Given the description of an element on the screen output the (x, y) to click on. 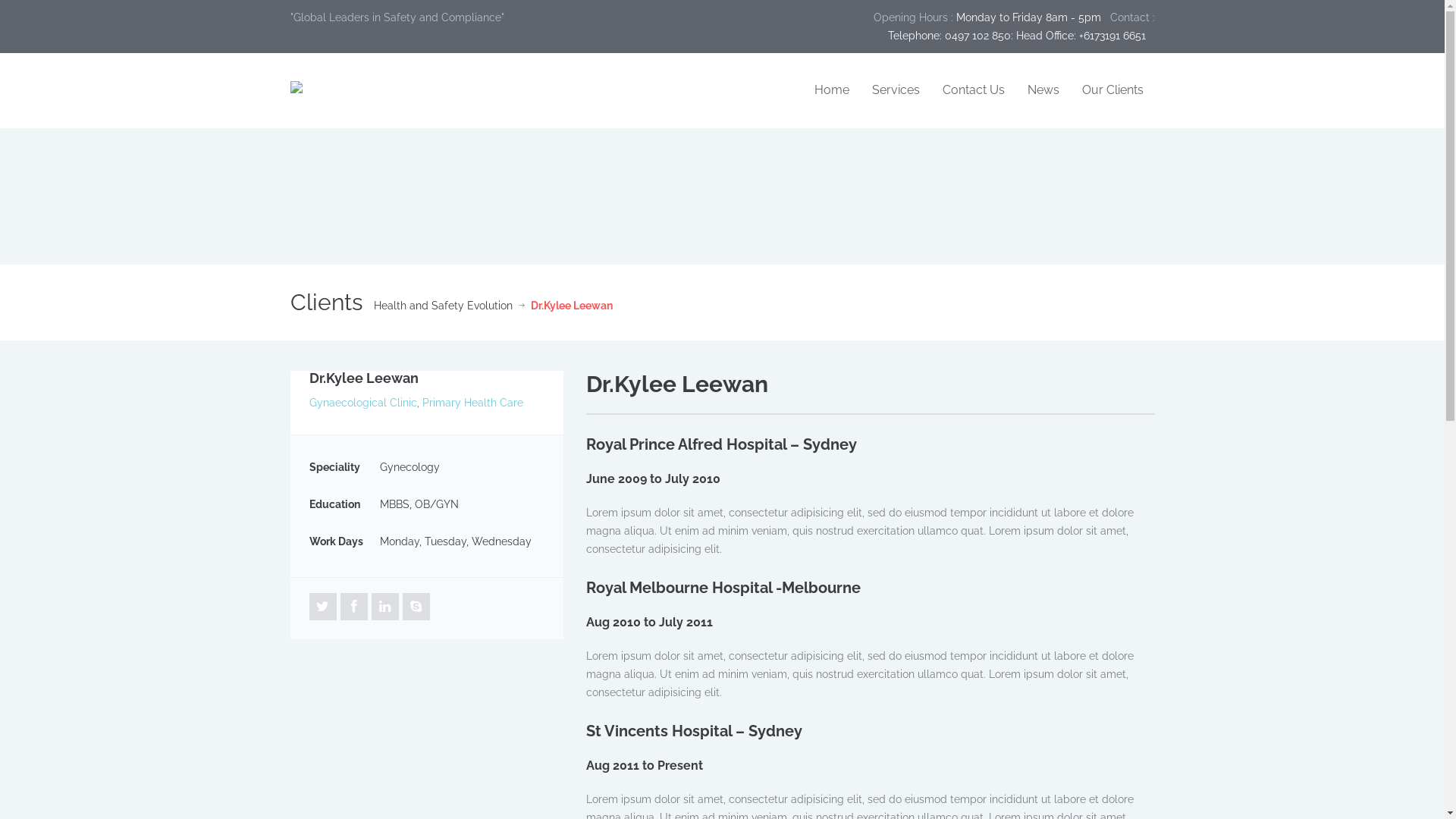
Services Element type: text (894, 90)
Primary Health Care Element type: text (471, 402)
Our Clients Element type: text (1112, 90)
Health and Safety Evolution Element type: text (442, 305)
Contact Us Element type: text (973, 90)
News Element type: text (1043, 90)
Home Element type: text (830, 90)
Gynaecological Clinic Element type: text (363, 402)
